Given the description of an element on the screen output the (x, y) to click on. 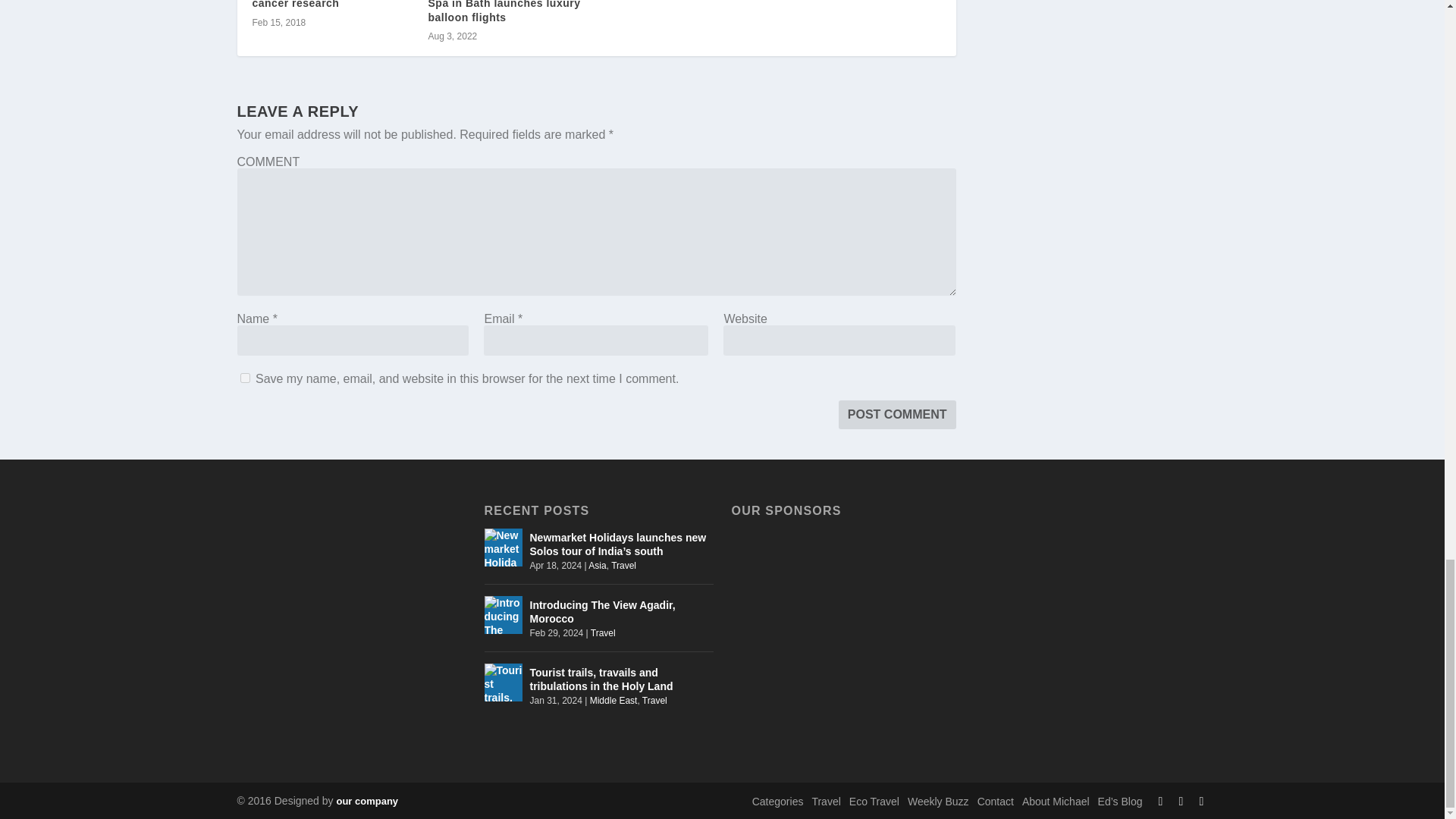
Kayaking the continent for cancer research (323, 4)
Post Comment (897, 414)
yes (244, 378)
